Given the description of an element on the screen output the (x, y) to click on. 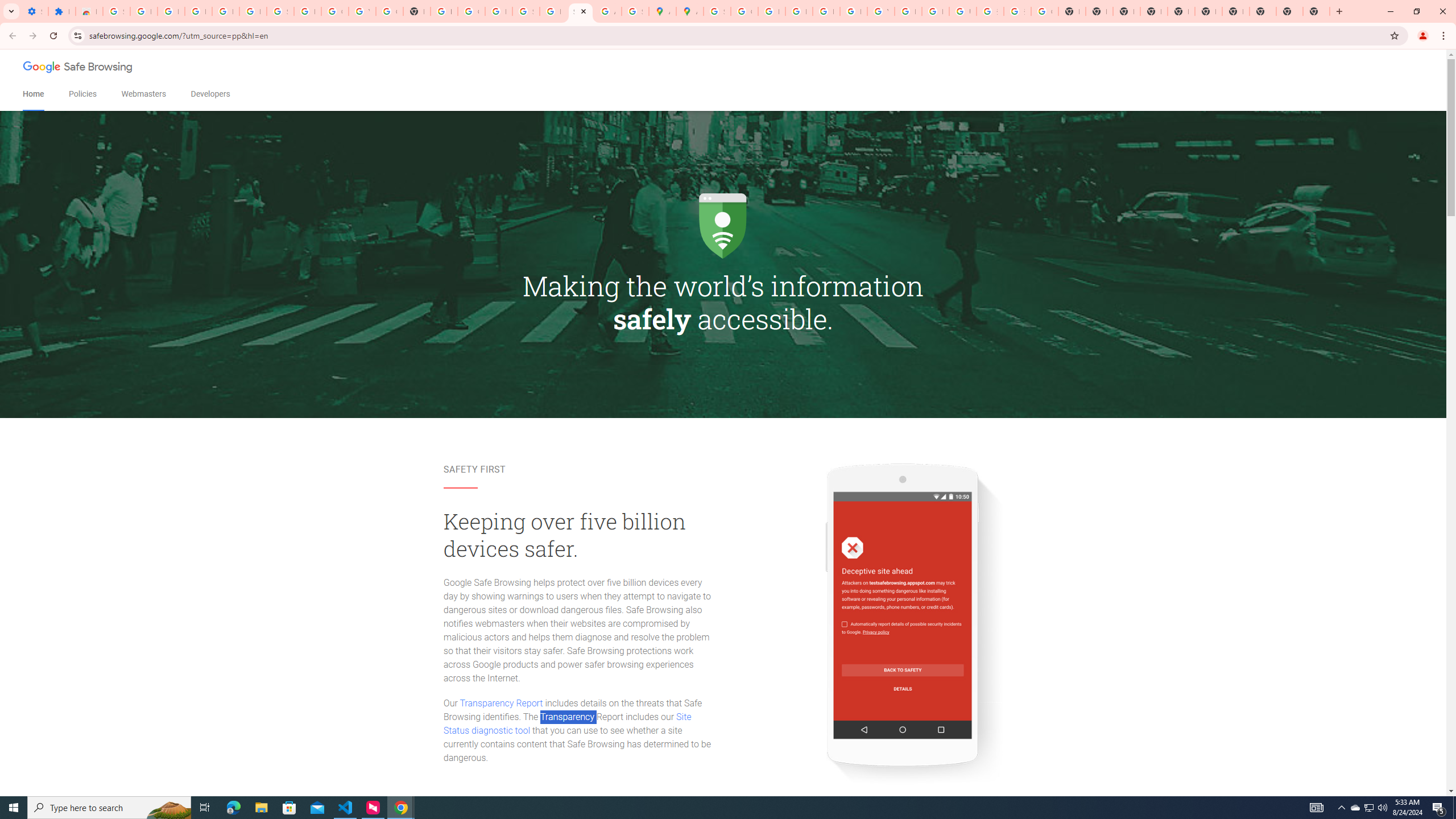
https://scholar.google.com/ (444, 11)
Sign in - Google Accounts (116, 11)
Settings - On startup (34, 11)
Reviews: Helix Fruit Jump Arcade Game (88, 11)
Google Images (1044, 11)
Webmasters (142, 94)
